Given the description of an element on the screen output the (x, y) to click on. 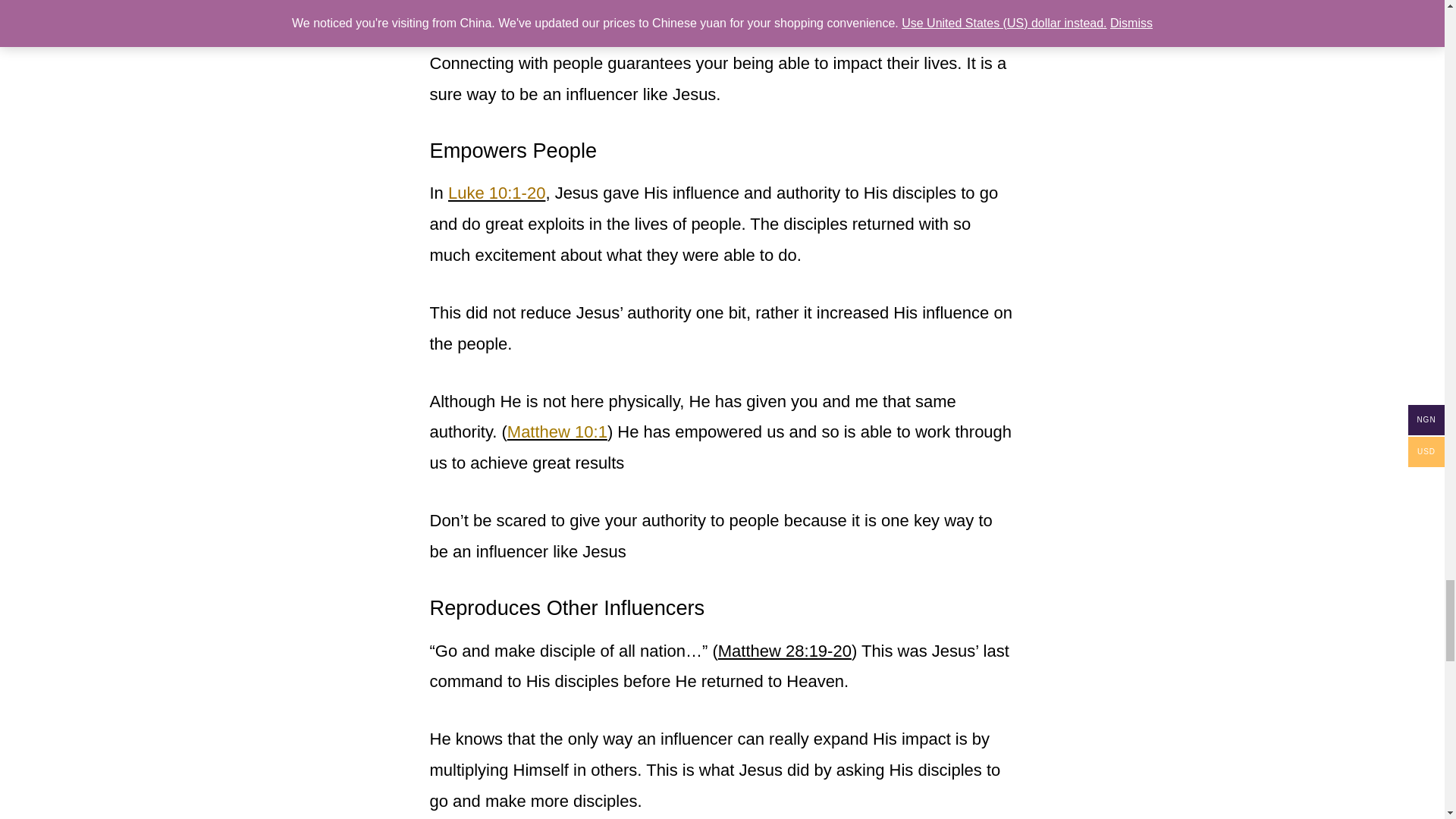
Matthew 10:1 (556, 431)
Matthew 28:19-20 (784, 650)
Luke 10:1-20 (496, 192)
